Given the description of an element on the screen output the (x, y) to click on. 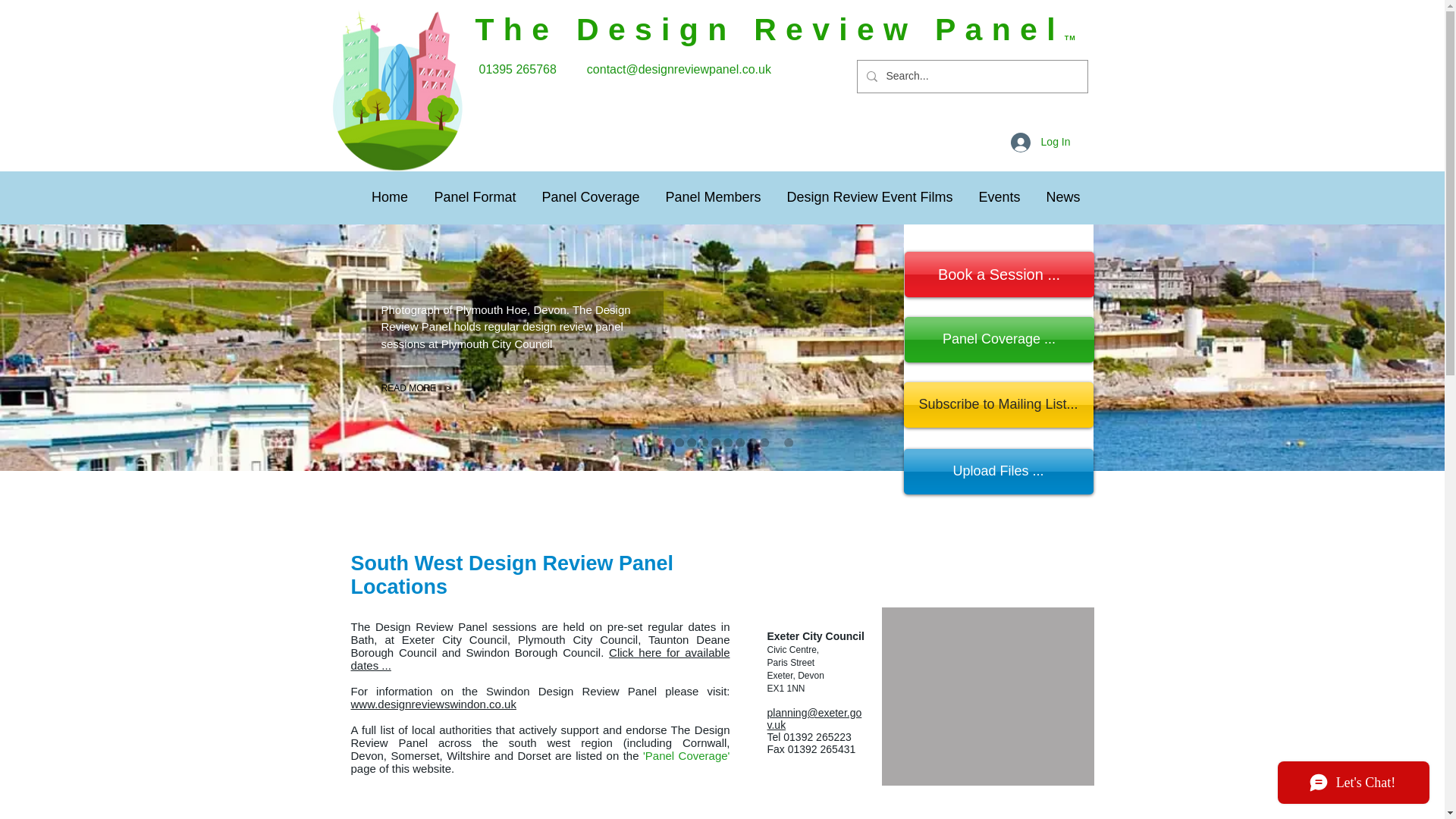
News (1062, 197)
Design Review Event Films (869, 197)
Google Maps (987, 696)
Panel Members (712, 197)
Home (389, 197)
Events (999, 197)
The Design Review PanelTM (774, 32)
Panel Format (475, 197)
Panel Coverage ... (998, 339)
01395 265768  (519, 69)
Embedded Content (274, 9)
Design Review Panel  Logo.jpg (397, 90)
Panel Coverage (590, 197)
Log In (1040, 141)
